Given the description of an element on the screen output the (x, y) to click on. 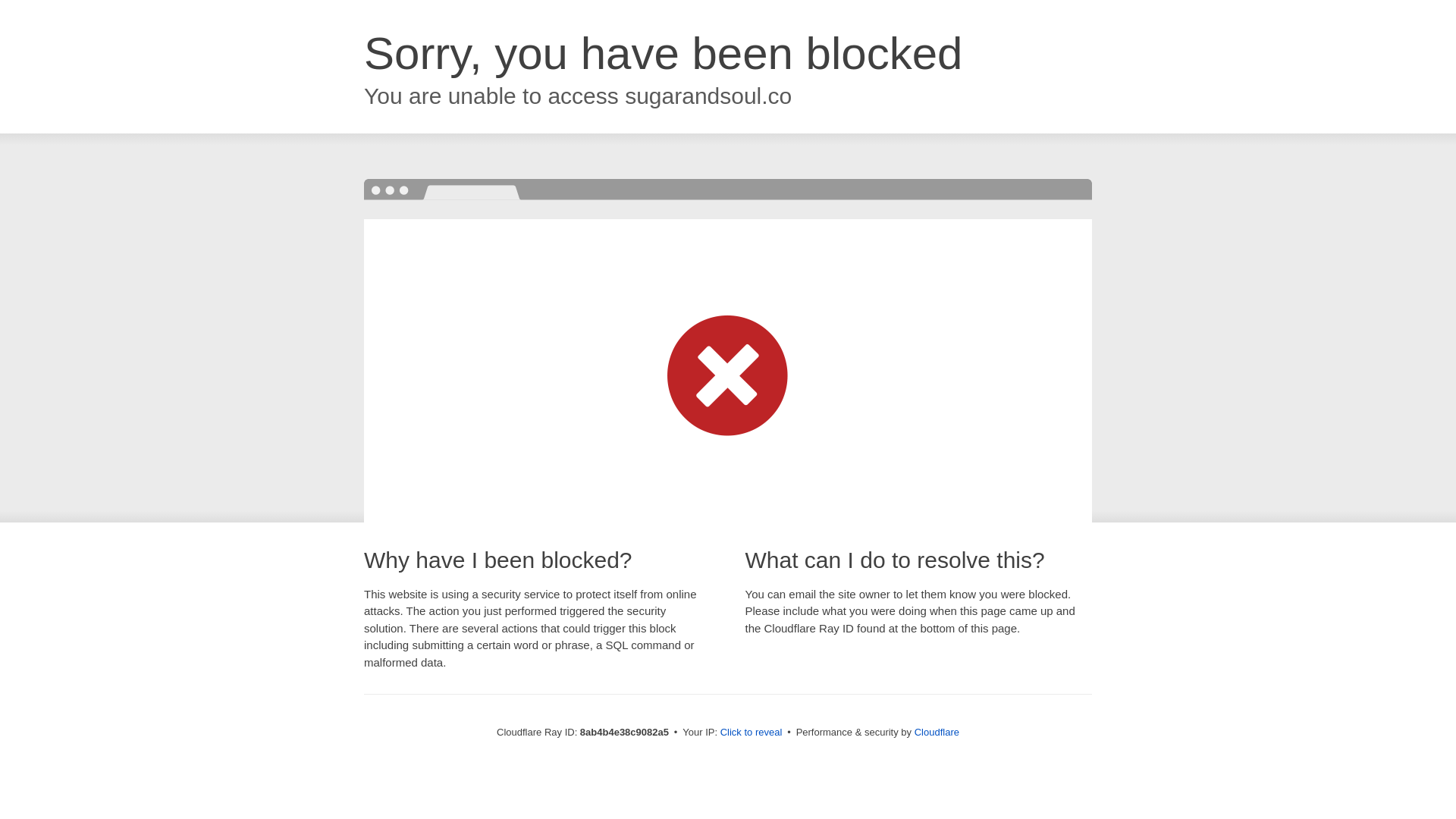
Click to reveal (751, 732)
Cloudflare (936, 731)
